Given the description of an element on the screen output the (x, y) to click on. 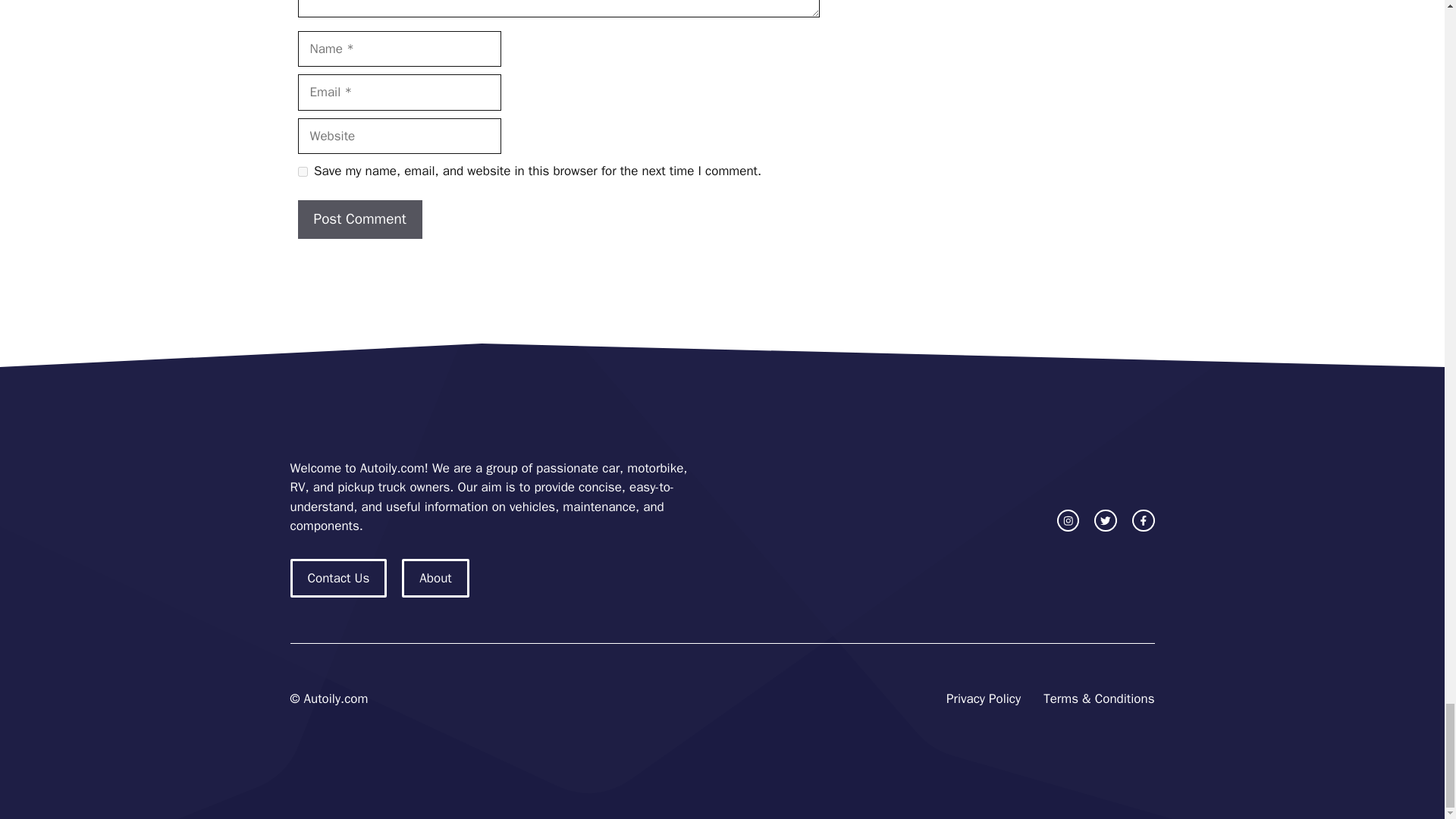
yes (302, 171)
Contact Us (338, 578)
Post Comment (359, 219)
Post Comment (359, 219)
About (434, 578)
Privacy Policy (983, 699)
